Given the description of an element on the screen output the (x, y) to click on. 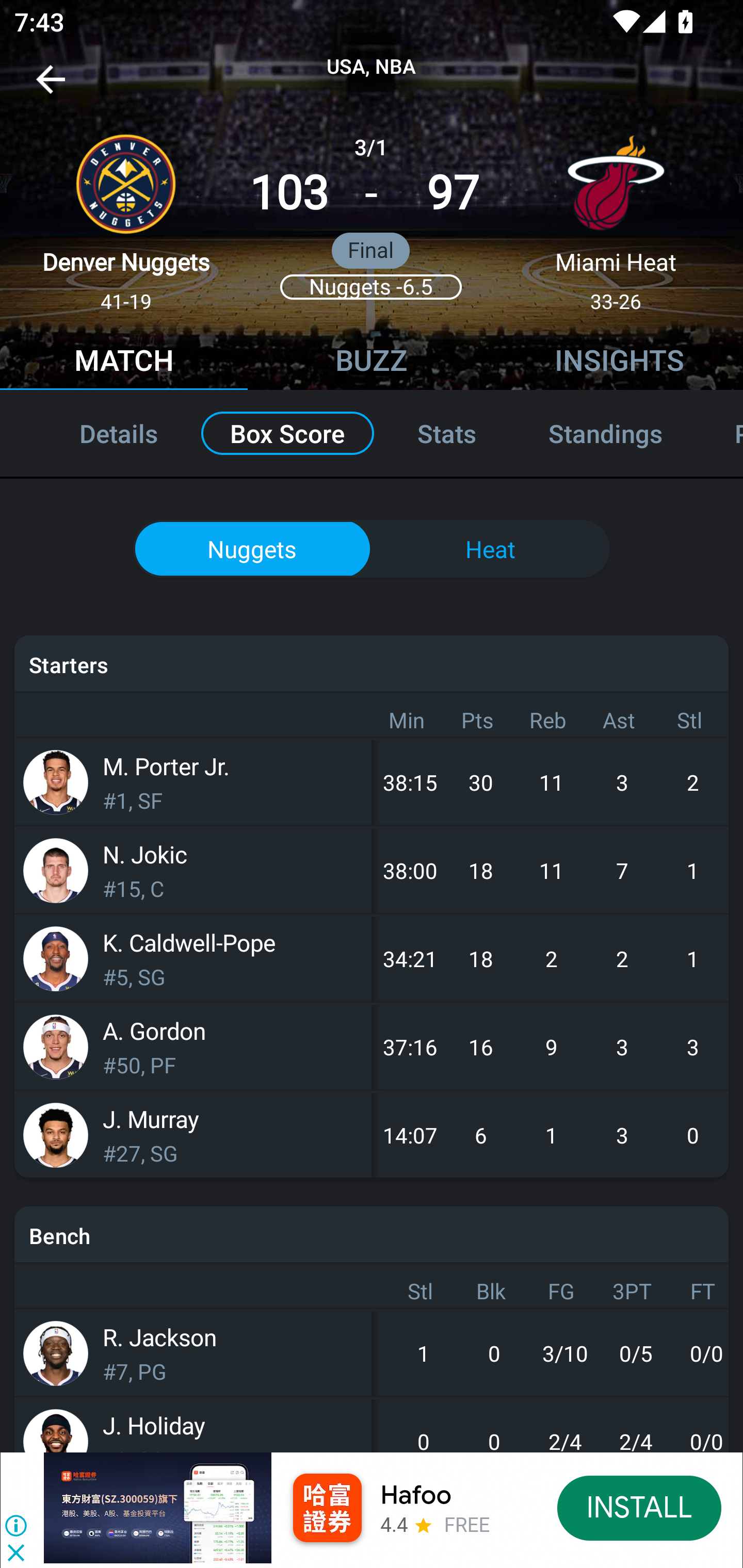
Navigate up (50, 86)
USA, NBA (371, 66)
Denver Nuggets 41-19 (126, 214)
Miami Heat 33-26 (616, 214)
103 (288, 192)
97 (453, 192)
MATCH (123, 362)
BUZZ (371, 362)
INSIGHTS (619, 362)
Details (96, 433)
Stats (446, 433)
Standings (605, 433)
Heat (490, 548)
M. Porter Jr. #1, SF (192, 782)
N. Jokic #15, C (192, 869)
K. Caldwell-Pope #5, SG (192, 958)
A. Gordon #50, PF (192, 1047)
J. Murray #27, SG (192, 1134)
R. Jackson #7, PG (192, 1352)
J. Holiday #9, SG (192, 1424)
INSTALL (639, 1507)
Hafoo (416, 1494)
